Given the description of an element on the screen output the (x, y) to click on. 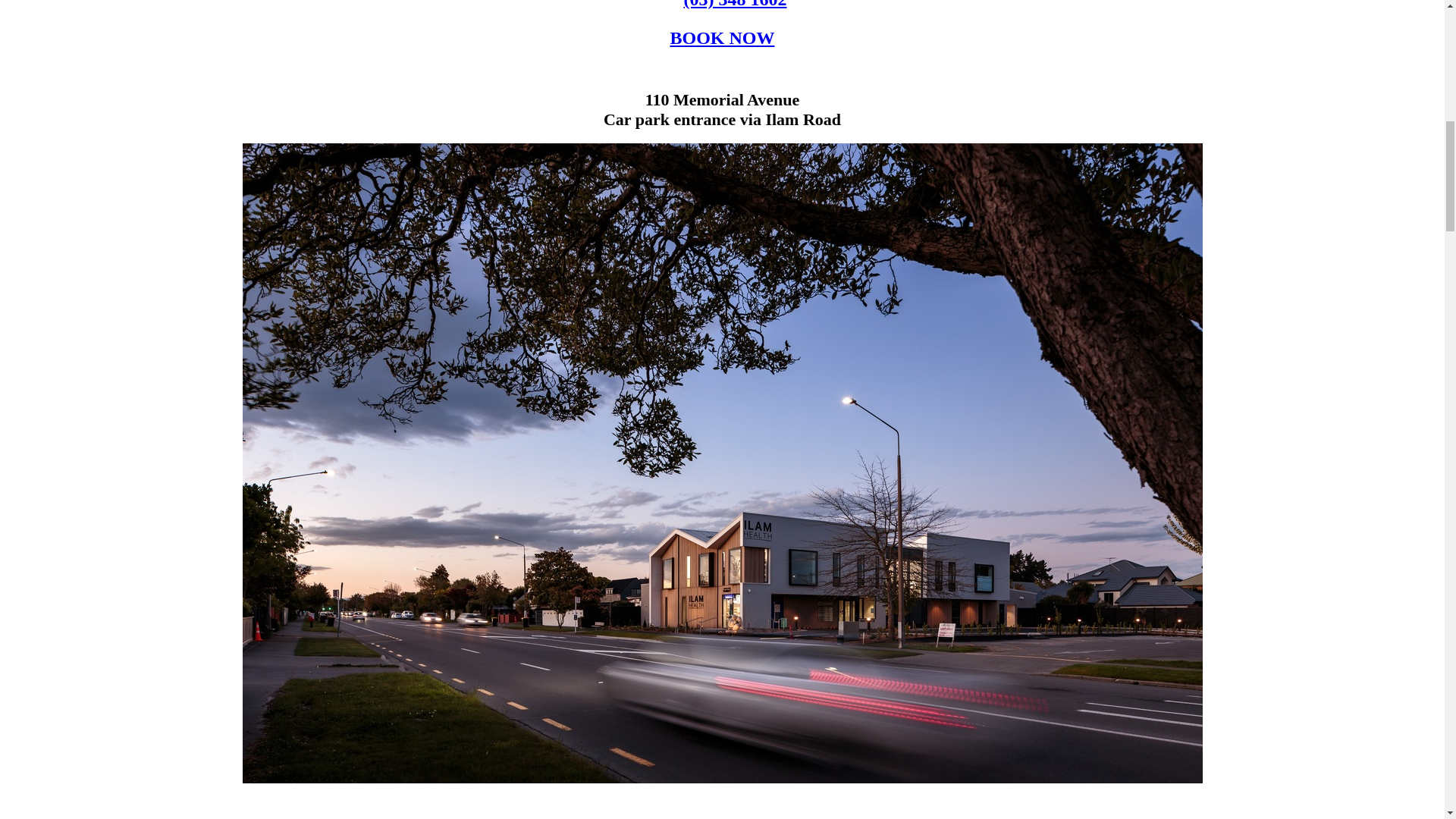
BOOK NOW (721, 37)
